Given the description of an element on the screen output the (x, y) to click on. 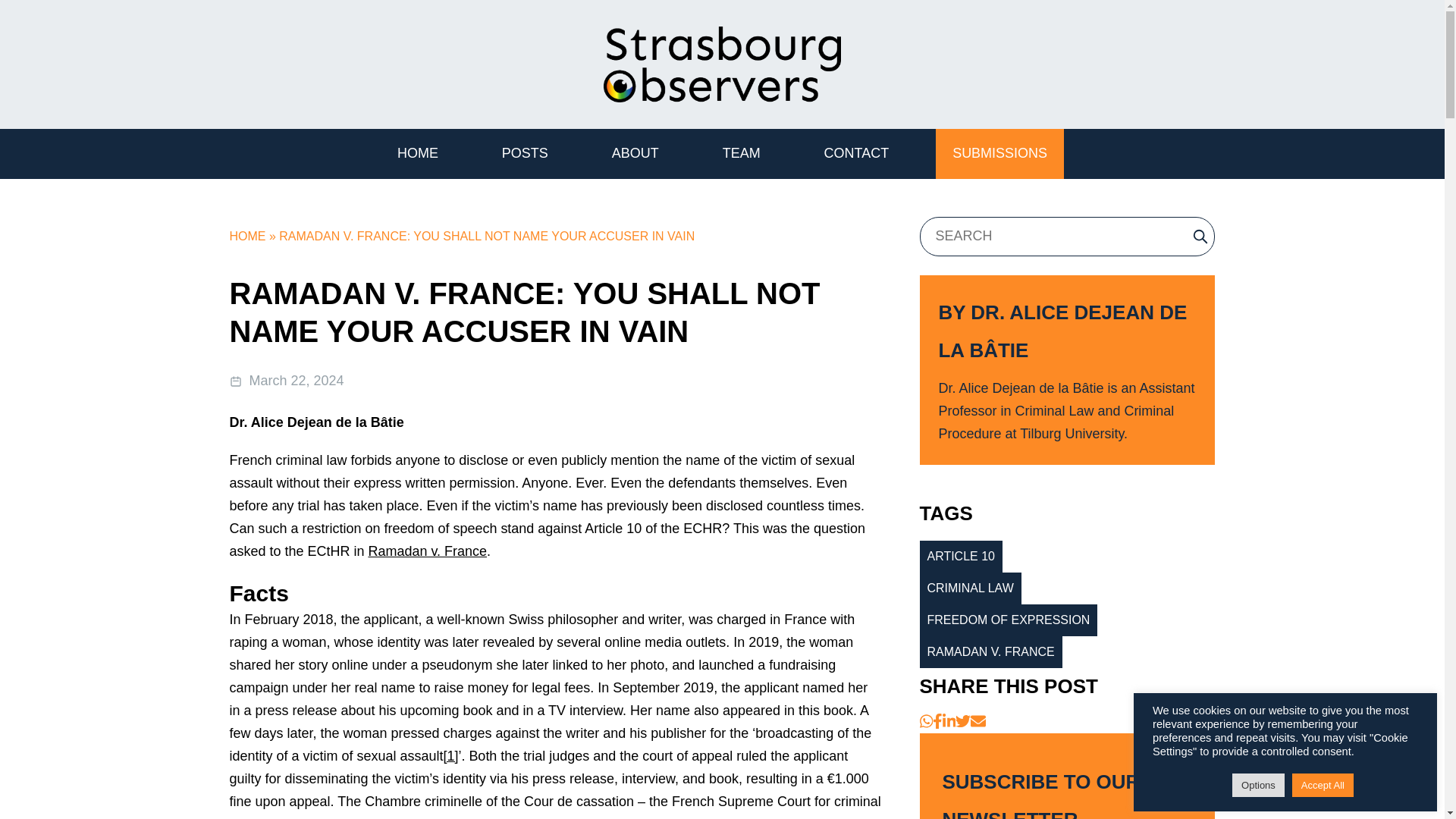
CRIMINAL LAW (969, 588)
POSTS (524, 153)
CONTACT (856, 153)
RAMADAN V. FRANCE (989, 652)
TEAM (741, 153)
SUBMISSIONS (1000, 153)
FREEDOM OF EXPRESSION (1007, 620)
HOME (417, 153)
ABOUT (635, 153)
HOME (246, 236)
